Given the description of an element on the screen output the (x, y) to click on. 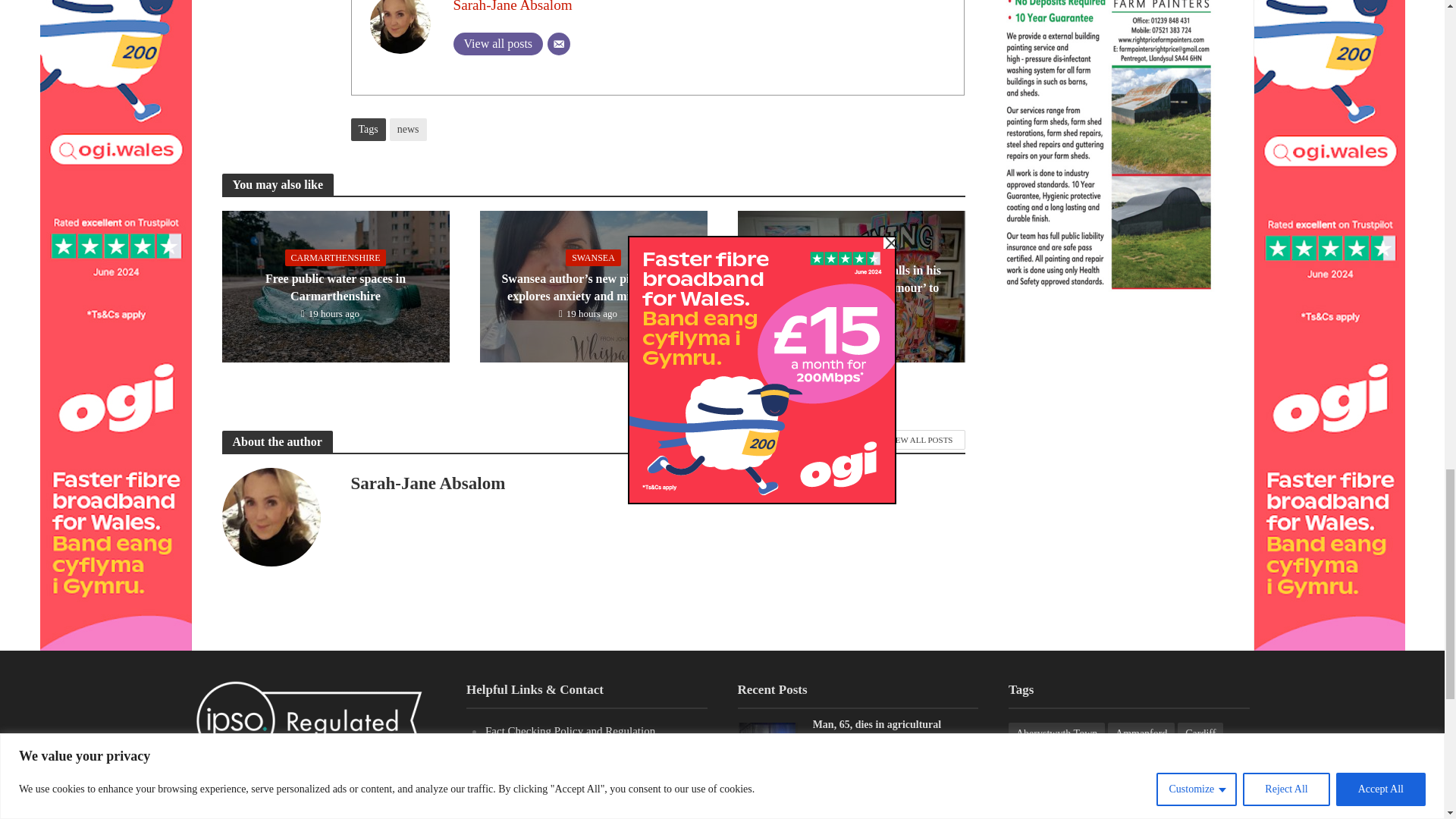
Sarah-Jane Absalom (512, 6)
Free public water spaces in Carmarthenshire (334, 285)
View all posts (497, 43)
